Given the description of an element on the screen output the (x, y) to click on. 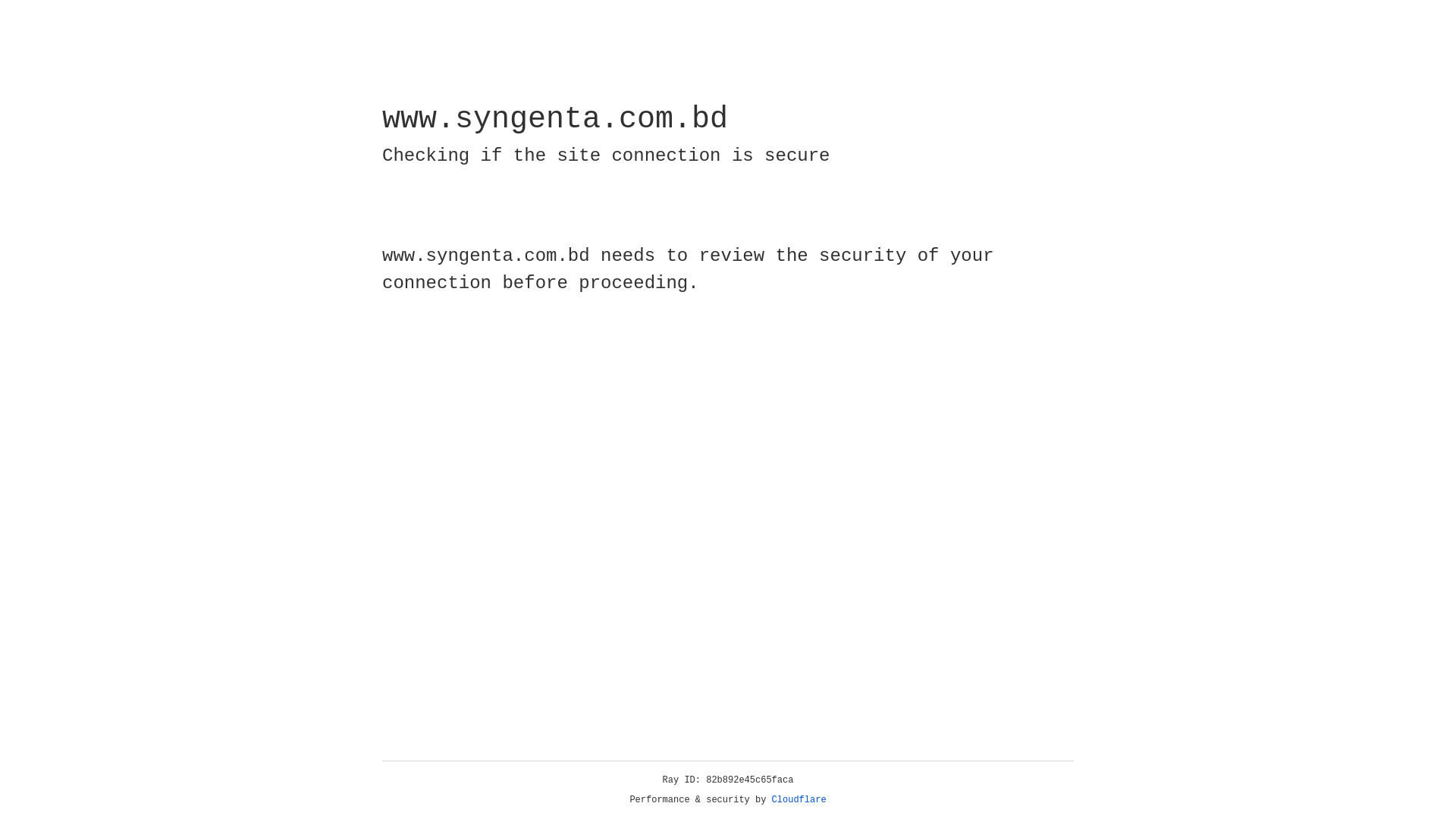
Cloudflare Element type: text (798, 799)
